Given the description of an element on the screen output the (x, y) to click on. 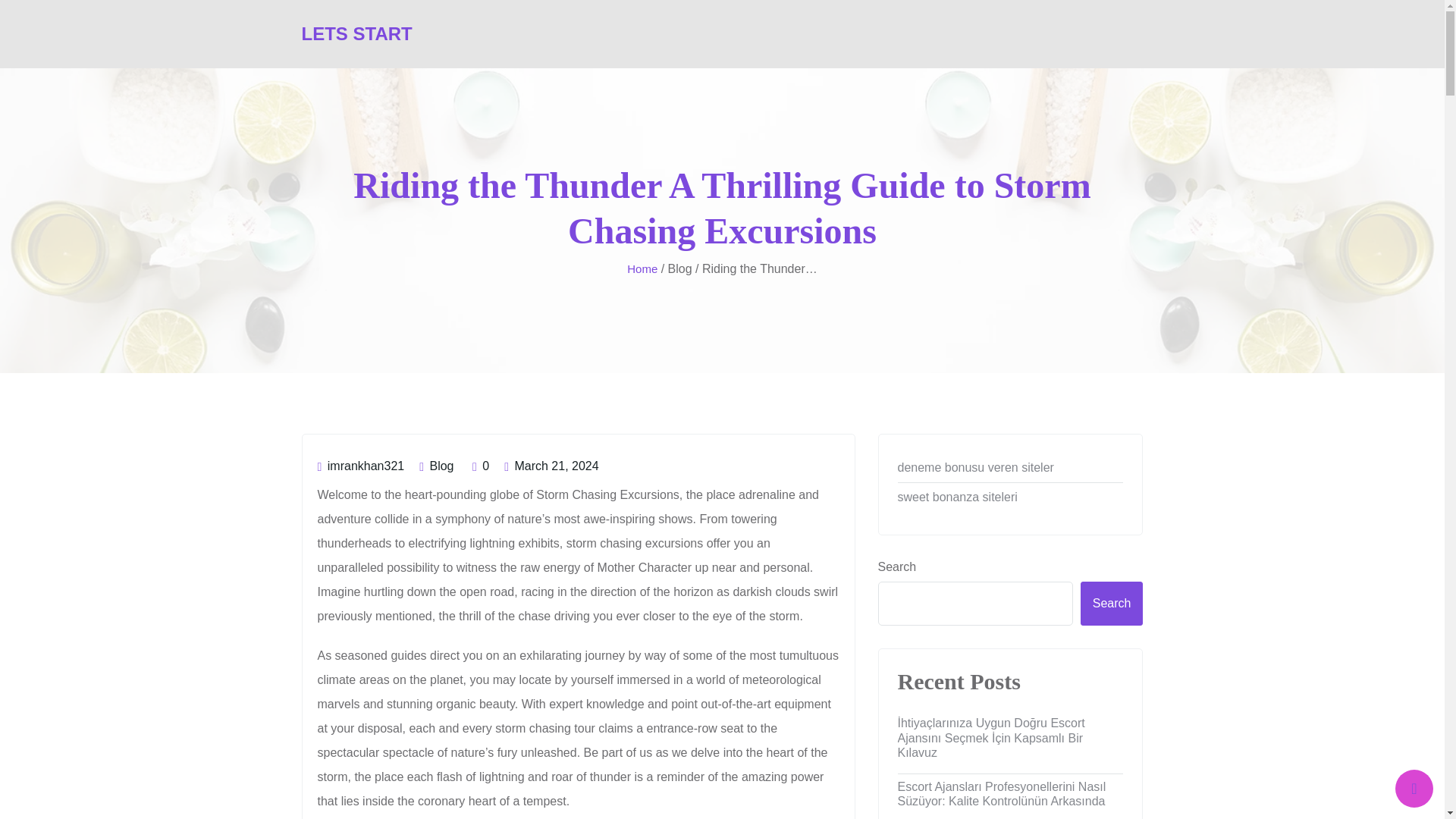
sweet bonanza siteleri (1011, 497)
LETS START (356, 33)
imrankhan321 (360, 465)
Home (642, 269)
Search (1111, 603)
Blog (440, 465)
deneme bonusu veren siteler (1011, 467)
